Given the description of an element on the screen output the (x, y) to click on. 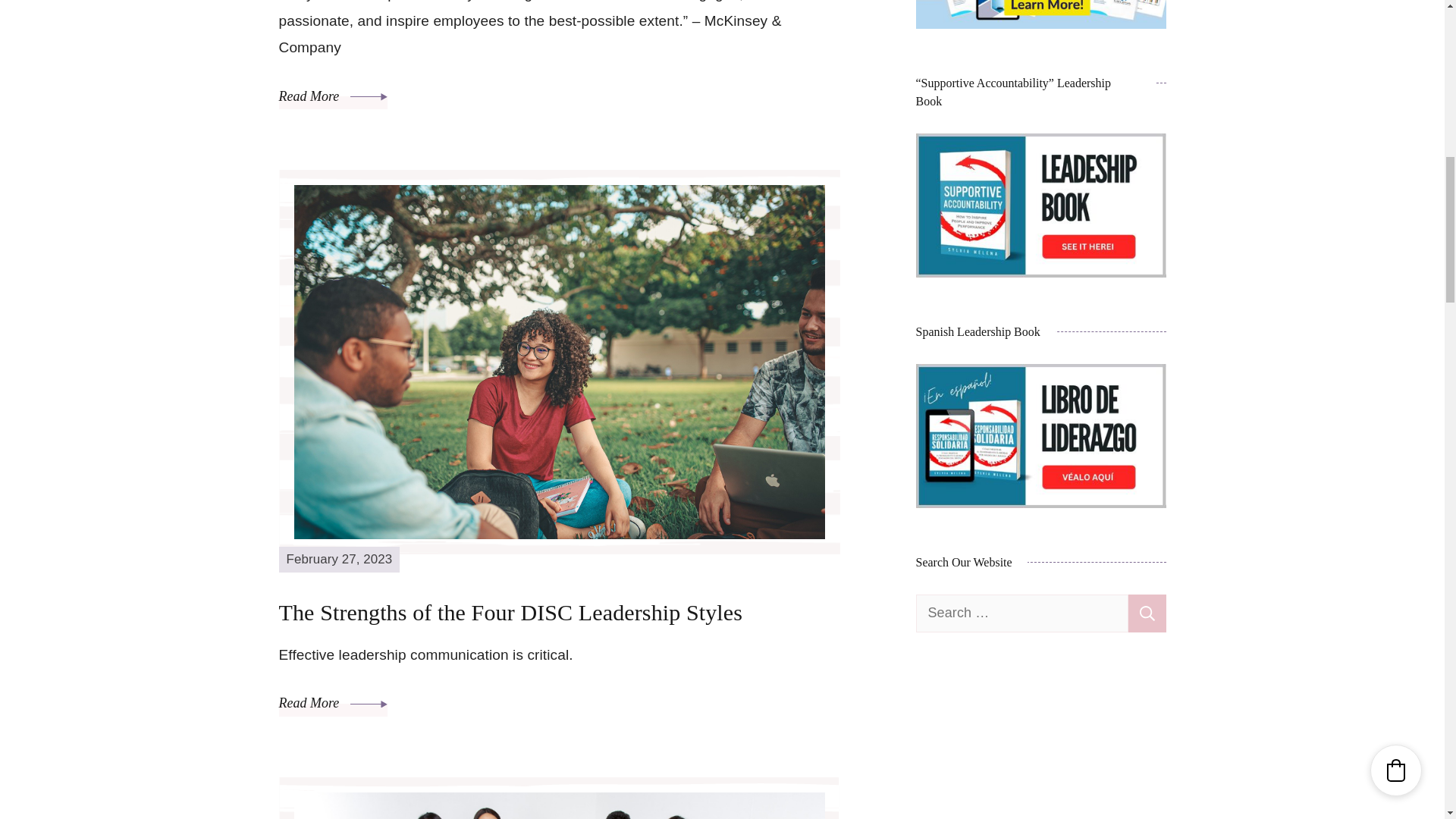
Search (1147, 613)
Search (1147, 613)
